Given the description of an element on the screen output the (x, y) to click on. 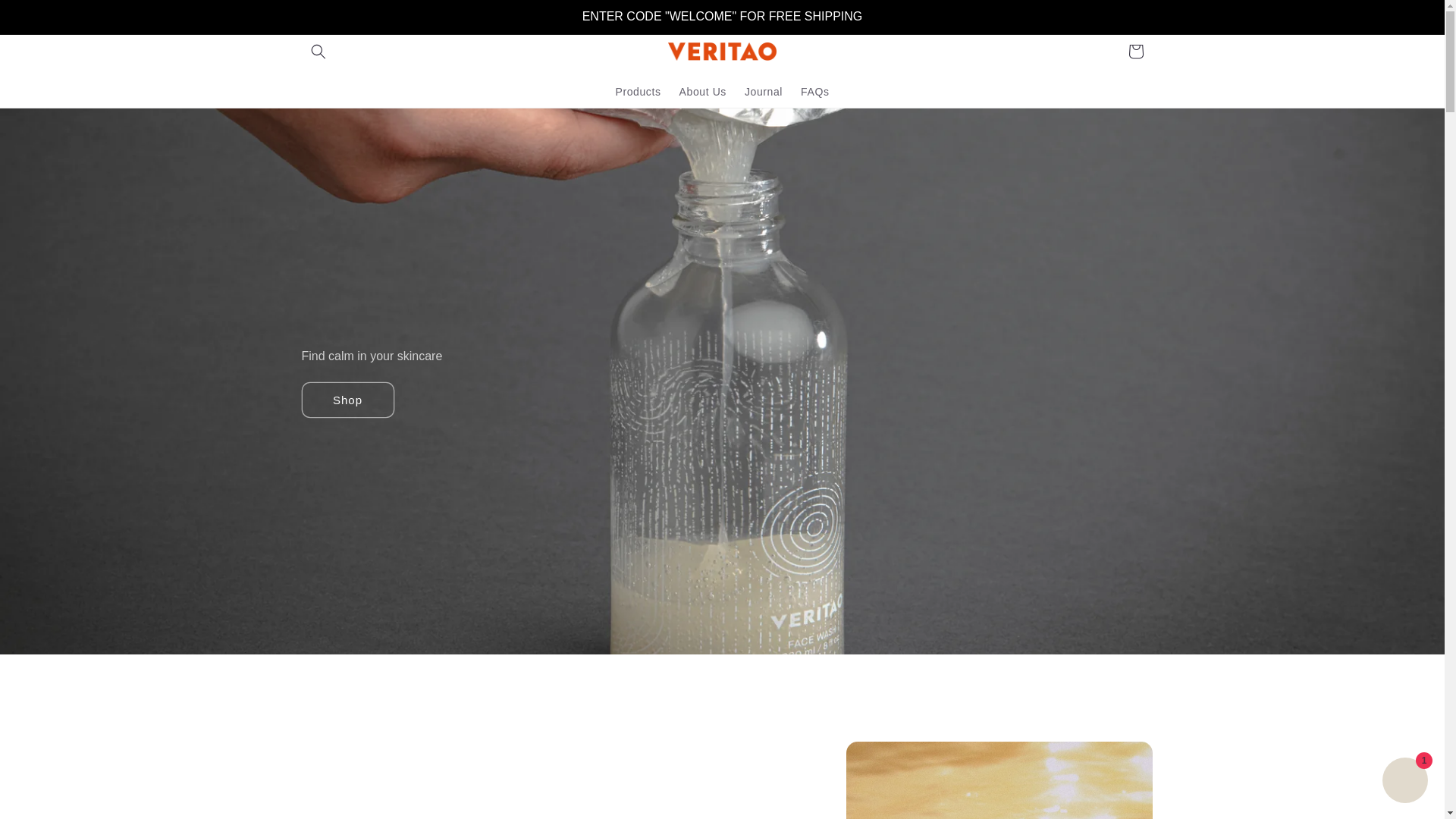
Journal (763, 91)
FAQs (815, 91)
Shopify online store chat (1404, 781)
About Us (702, 91)
Products (638, 91)
Cart (1136, 51)
Shop (347, 399)
